Given the description of an element on the screen output the (x, y) to click on. 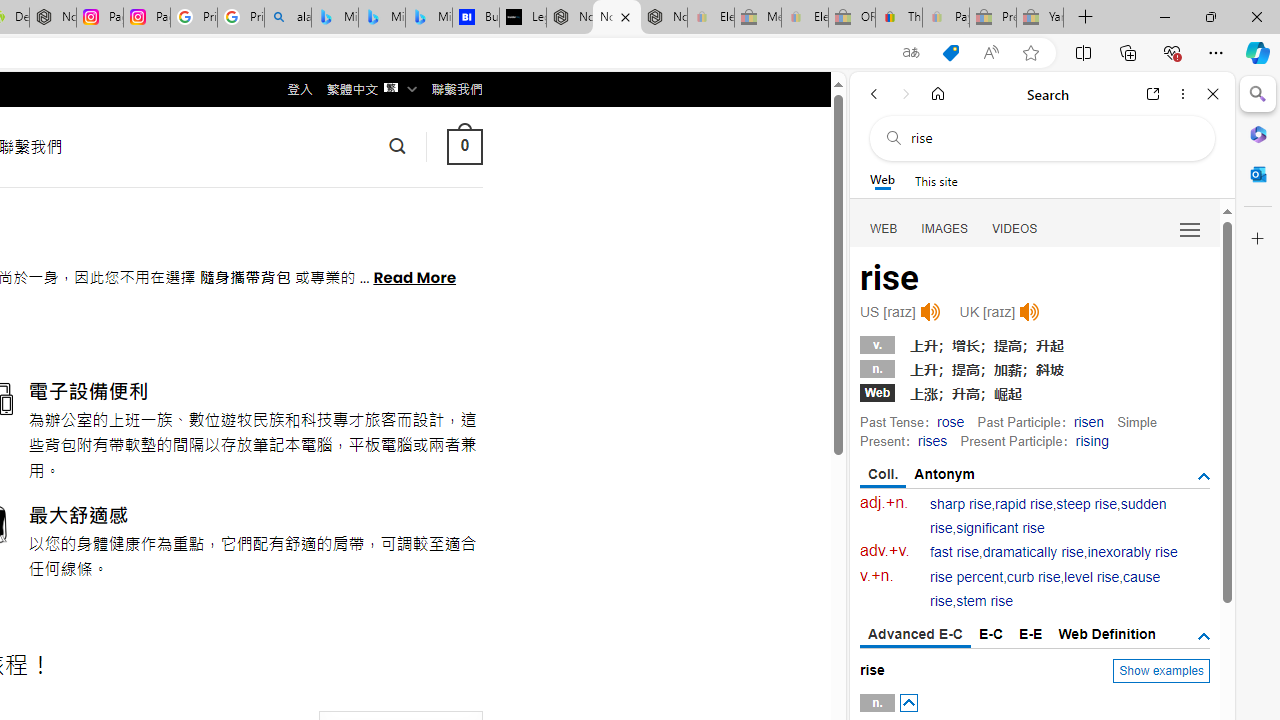
WEB (884, 228)
alabama high school quarterback dies - Search (288, 17)
Press Room - eBay Inc. - Sleeping (993, 17)
sudden rise (1048, 515)
rises (932, 440)
rising (1091, 440)
